Given the description of an element on the screen output the (x, y) to click on. 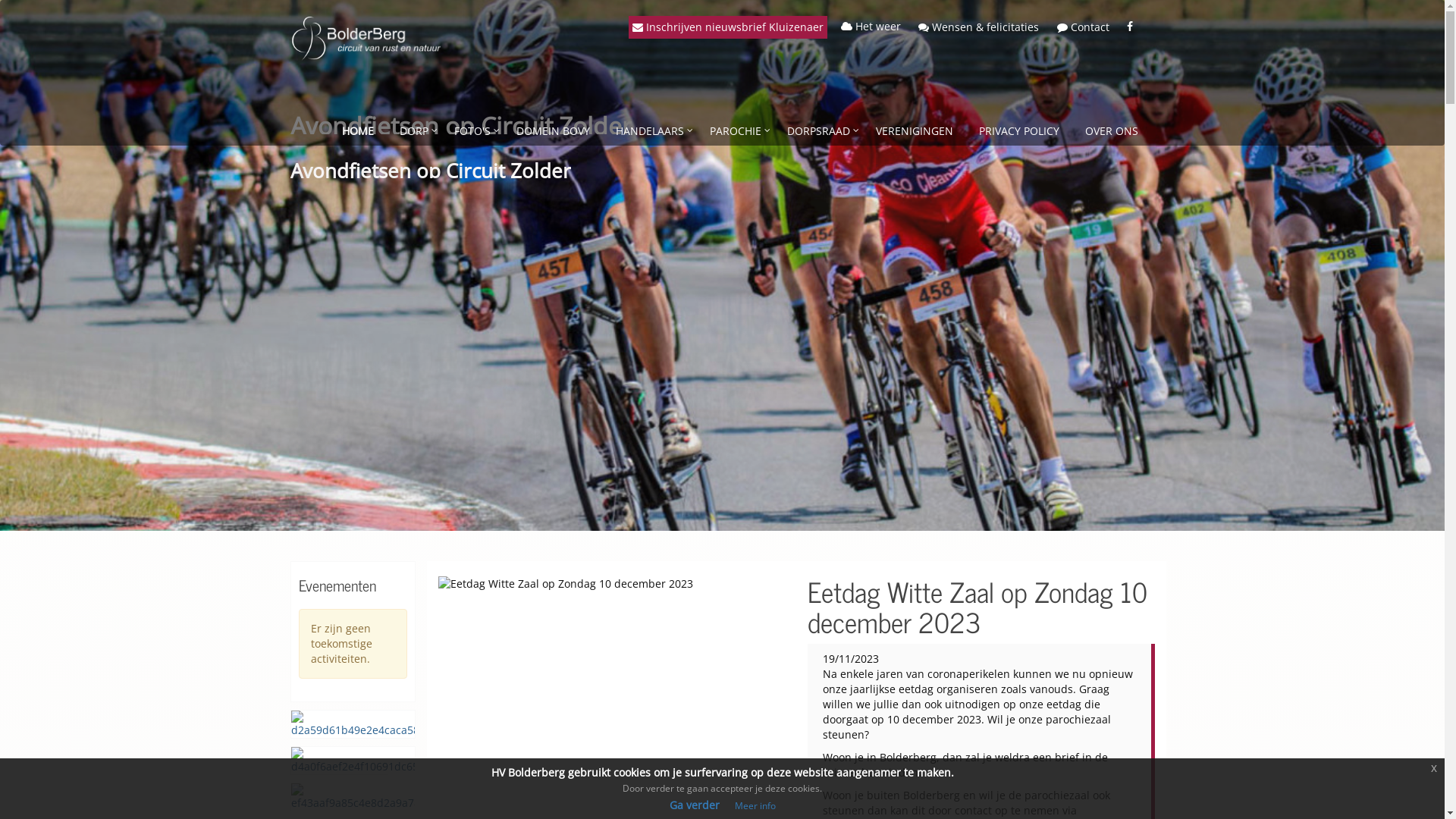
Meer info Element type: text (754, 805)
x Element type: text (1433, 768)
DOMEIN BOVY Element type: text (552, 131)
Het weer Element type: text (870, 25)
DORPSRAAD Element type: text (817, 131)
Wensen & felicitaties Element type: text (978, 26)
HANDELAARS Element type: text (649, 131)
OVER ONS Element type: text (1111, 131)
HOME Element type: text (357, 131)
DORP Element type: text (413, 131)
PRIVACY POLICY Element type: text (1019, 131)
VERENIGINGEN Element type: text (914, 131)
Ga verder Element type: text (693, 804)
PAROCHIE Element type: text (734, 131)
Contact Element type: text (1082, 26)
Inschrijven nieuwsbrief Kluizenaer Element type: text (726, 26)
FOTO'S Element type: text (472, 131)
